Given the description of an element on the screen output the (x, y) to click on. 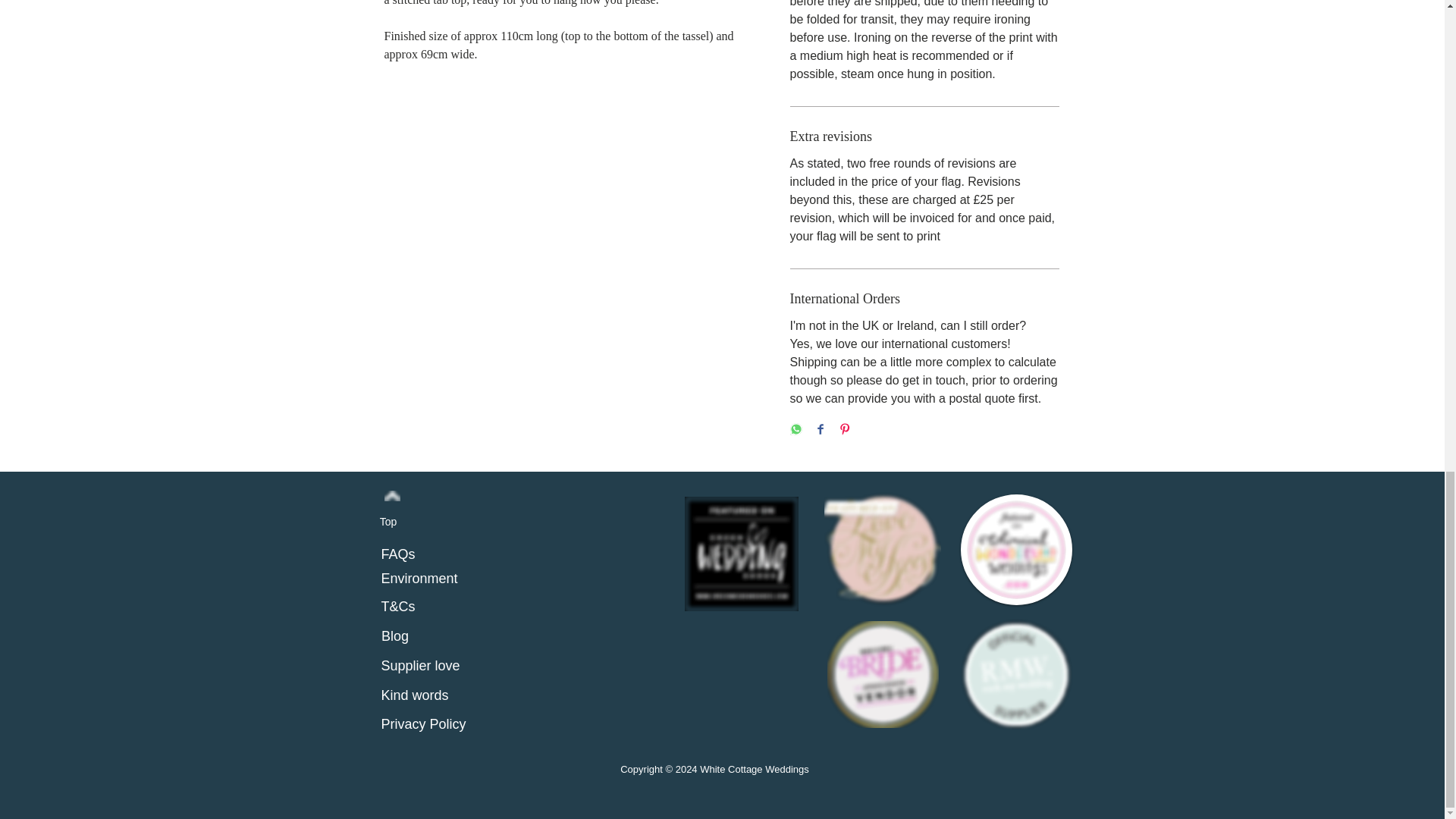
Rock my Wedding (1014, 672)
